Given the description of an element on the screen output the (x, y) to click on. 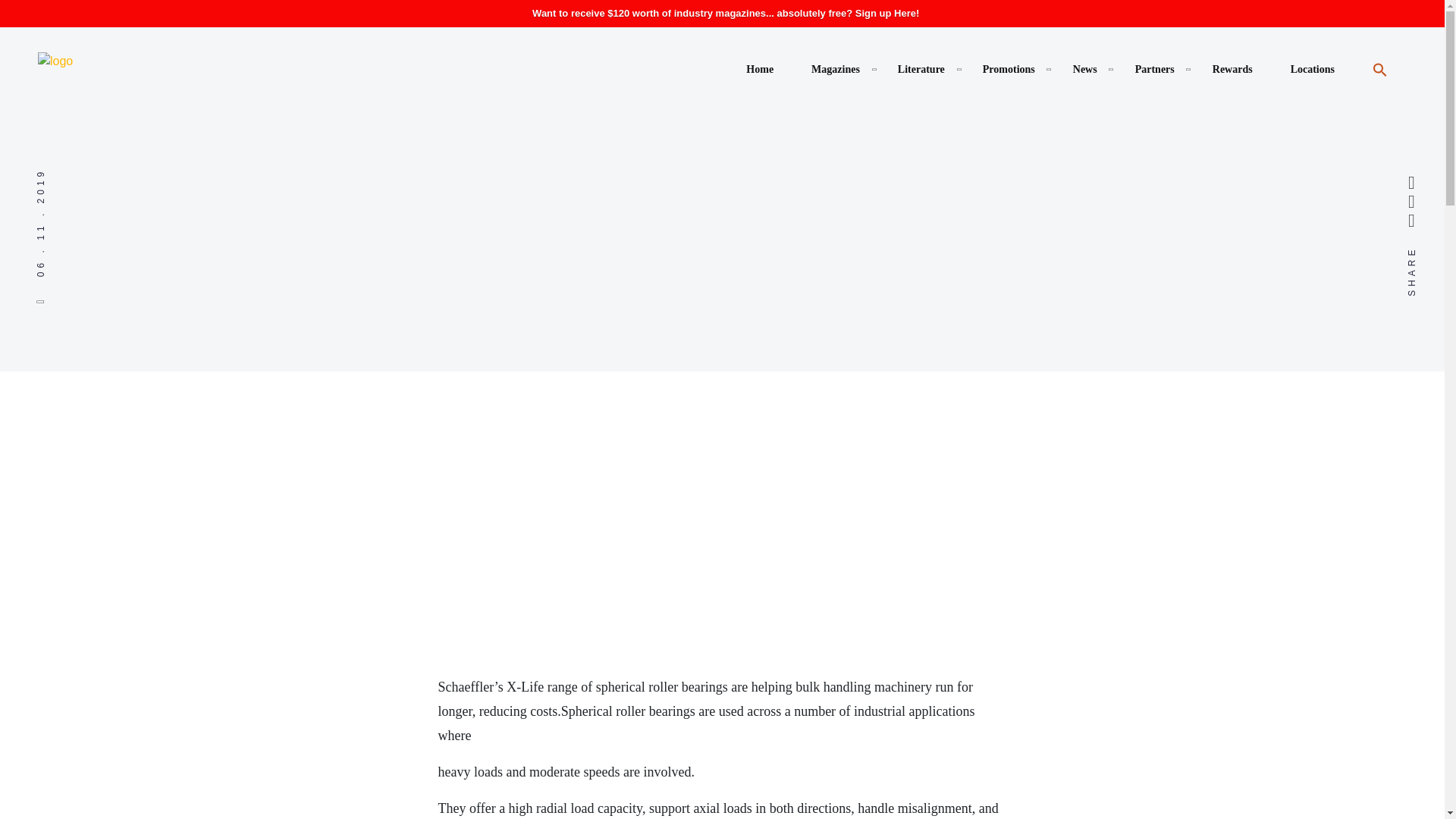
Promotions (1008, 68)
Home (759, 68)
Partners (1154, 68)
Literature (921, 68)
News (1085, 68)
Magazines (835, 68)
